Given the description of an element on the screen output the (x, y) to click on. 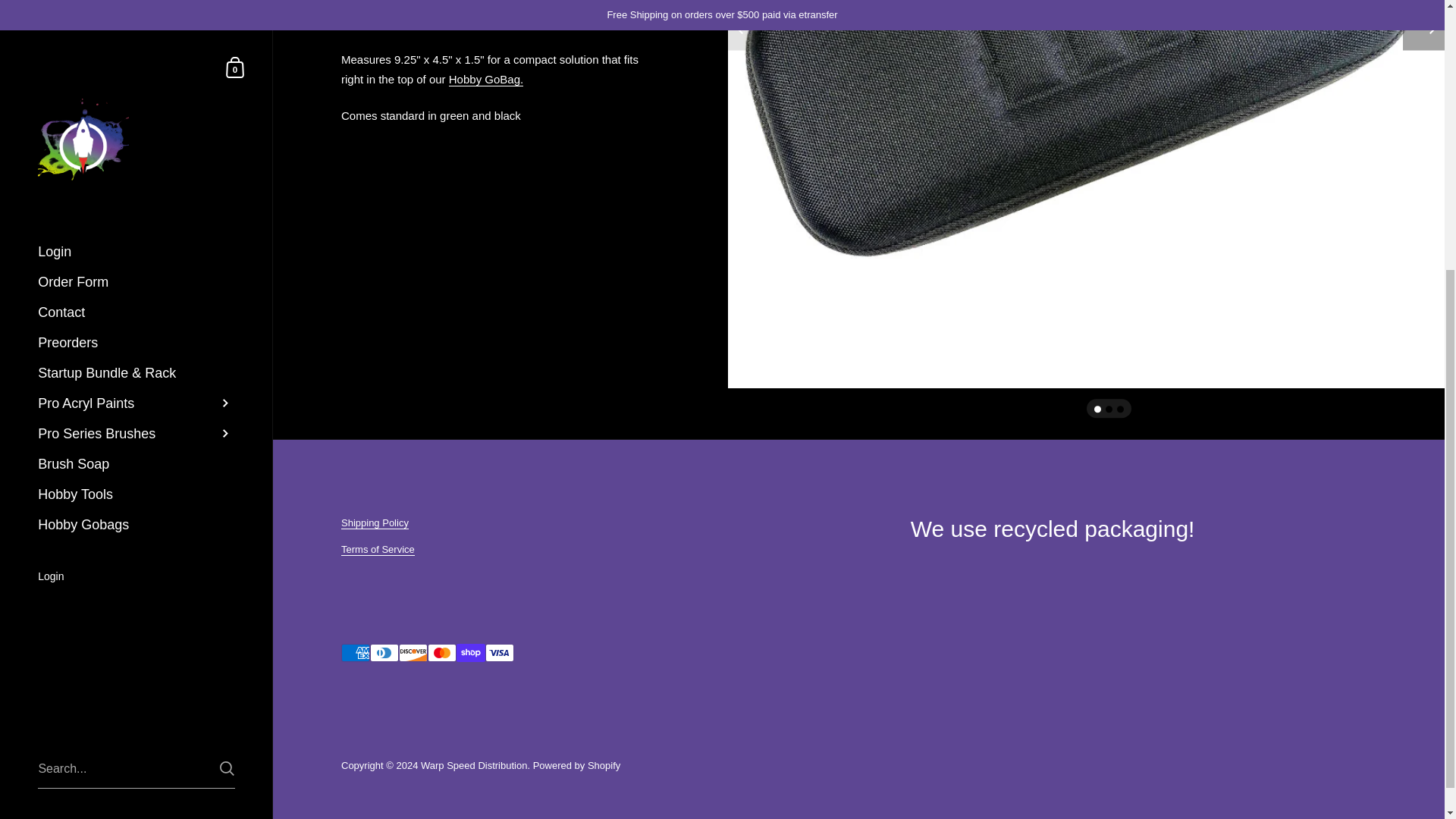
Login (136, 167)
Pro Acryl Paints (136, 4)
Shipping Policy (374, 522)
Warp Speed Distribution (473, 765)
Brush Soap (136, 53)
Pro Series Brushes (136, 23)
Hobby Gobags (136, 114)
Terms of Service (377, 549)
Hobby GoBag. (485, 79)
Hobby Tools (136, 83)
Powered by Shopify (576, 765)
gobag (485, 79)
